Given the description of an element on the screen output the (x, y) to click on. 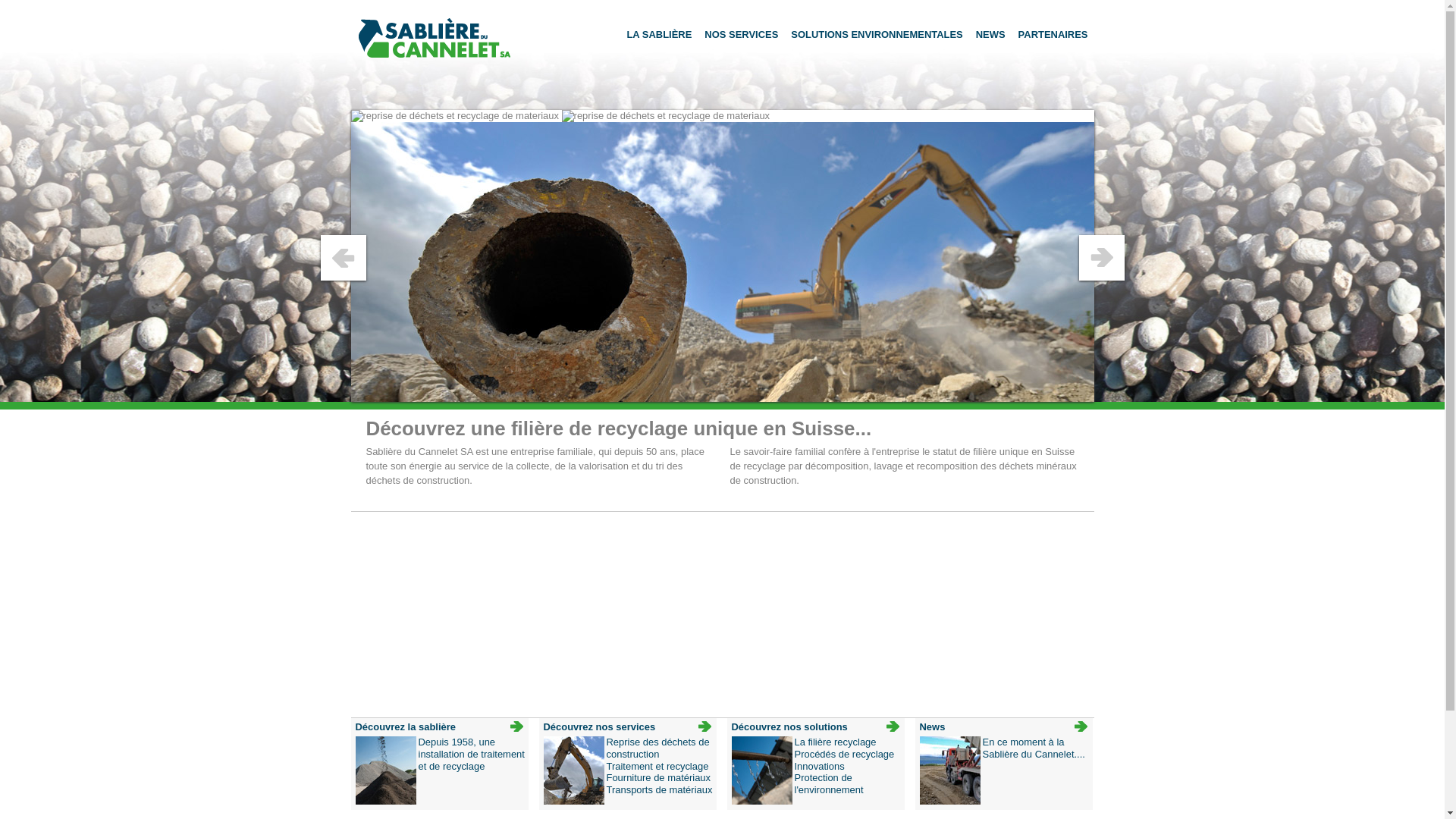
prev Element type: text (342, 257)
reprise des dechets Element type: hover (665, 115)
SOLUTIONS ENVIRONNEMENTALES Element type: text (876, 34)
next Element type: text (1100, 257)
PARTENAIRES Element type: text (1053, 34)
reprise des dechets Element type: hover (721, 268)
reprise des dechets Element type: hover (454, 115)
NOS SERVICES Element type: text (741, 34)
NEWS Element type: text (990, 34)
